Given the description of an element on the screen output the (x, y) to click on. 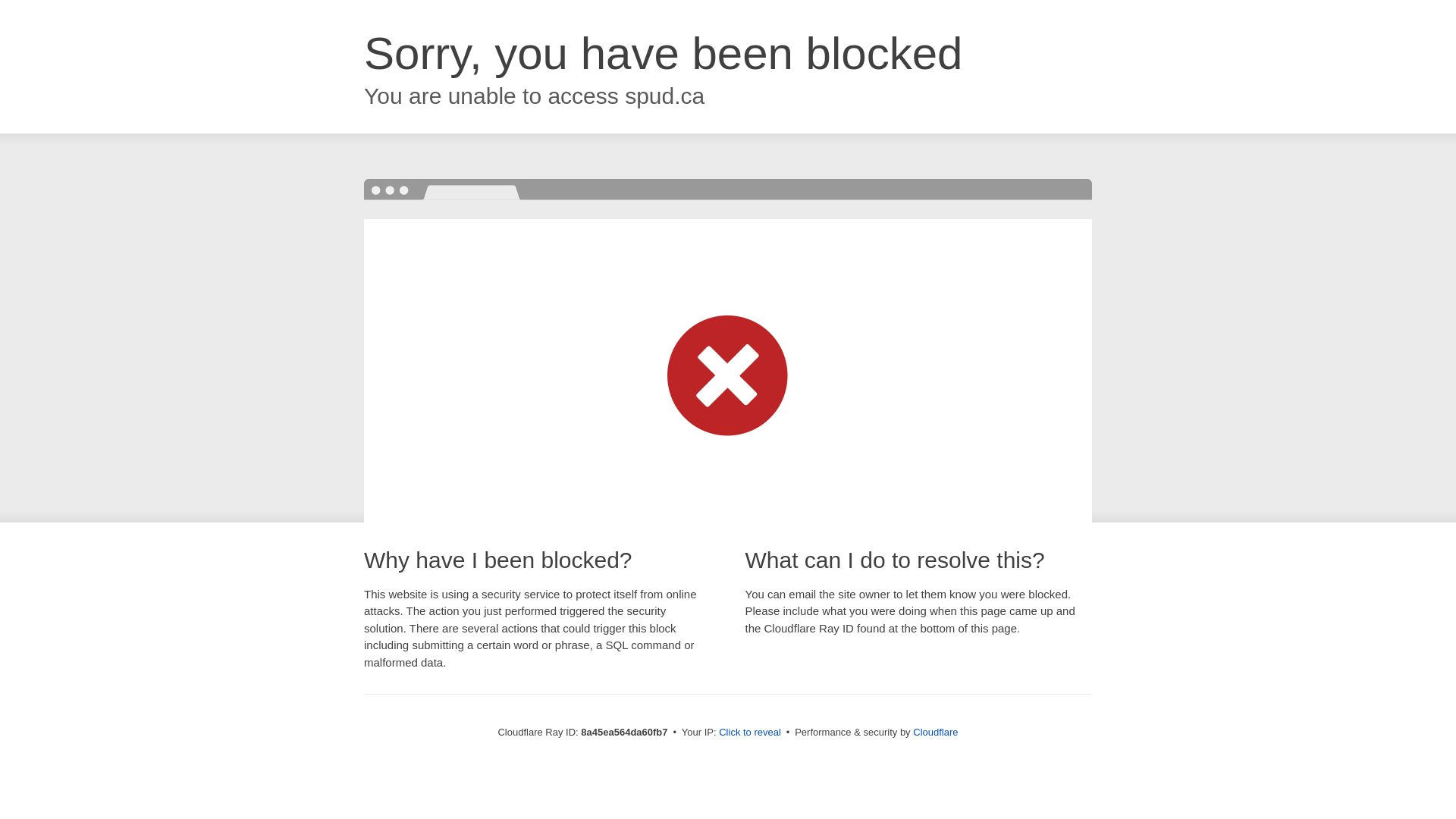
Cloudflare (935, 731)
Click to reveal (749, 732)
